Given the description of an element on the screen output the (x, y) to click on. 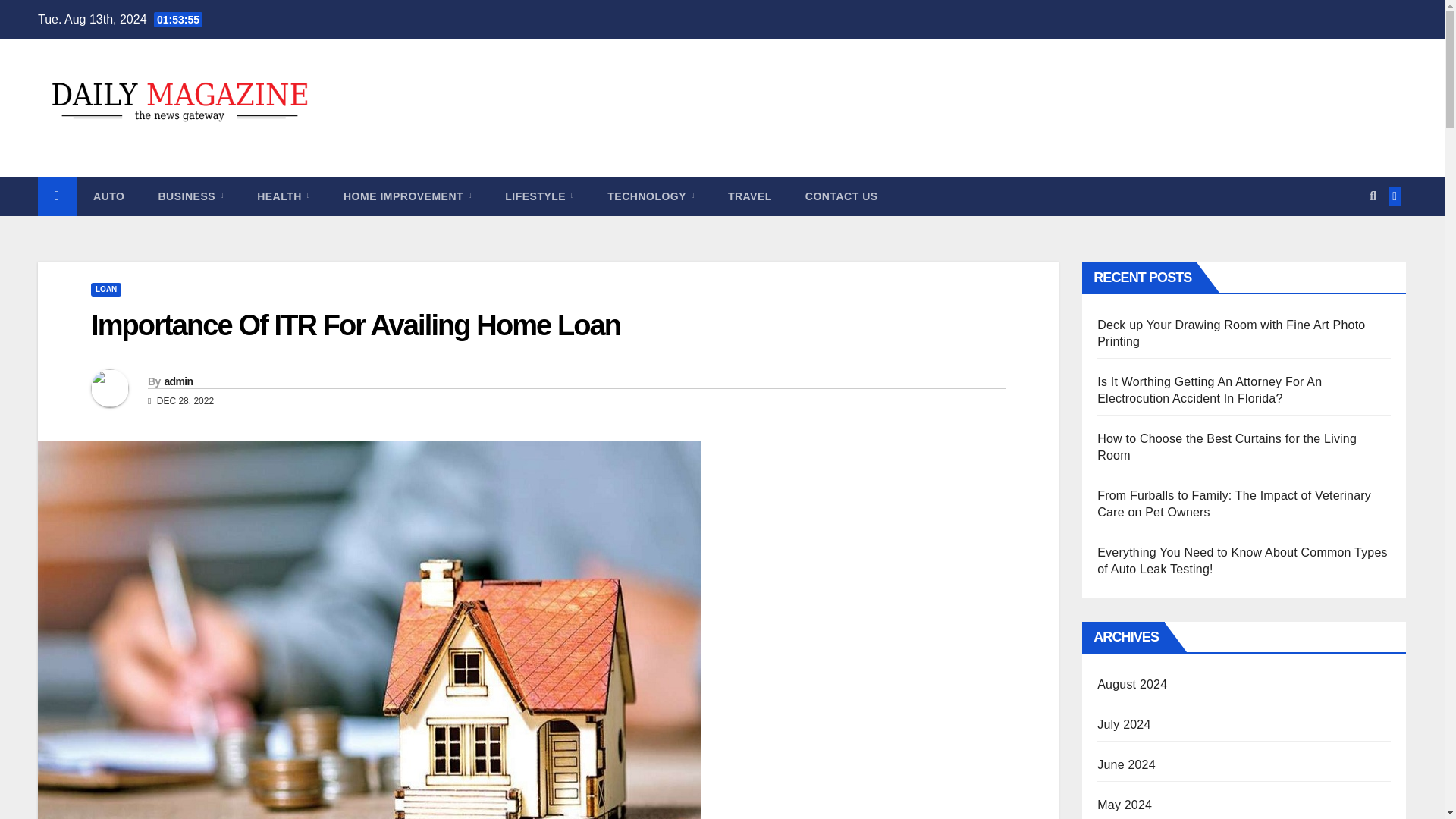
HOME IMPROVEMENT (406, 196)
TRAVEL (750, 196)
LOAN (105, 289)
Business (190, 196)
CONTACT US (842, 196)
TECHNOLOGY (651, 196)
AUTO (109, 196)
Home Improvement (406, 196)
Importance Of ITR For Availing Home Loan (355, 325)
BUSINESS (190, 196)
